Given the description of an element on the screen output the (x, y) to click on. 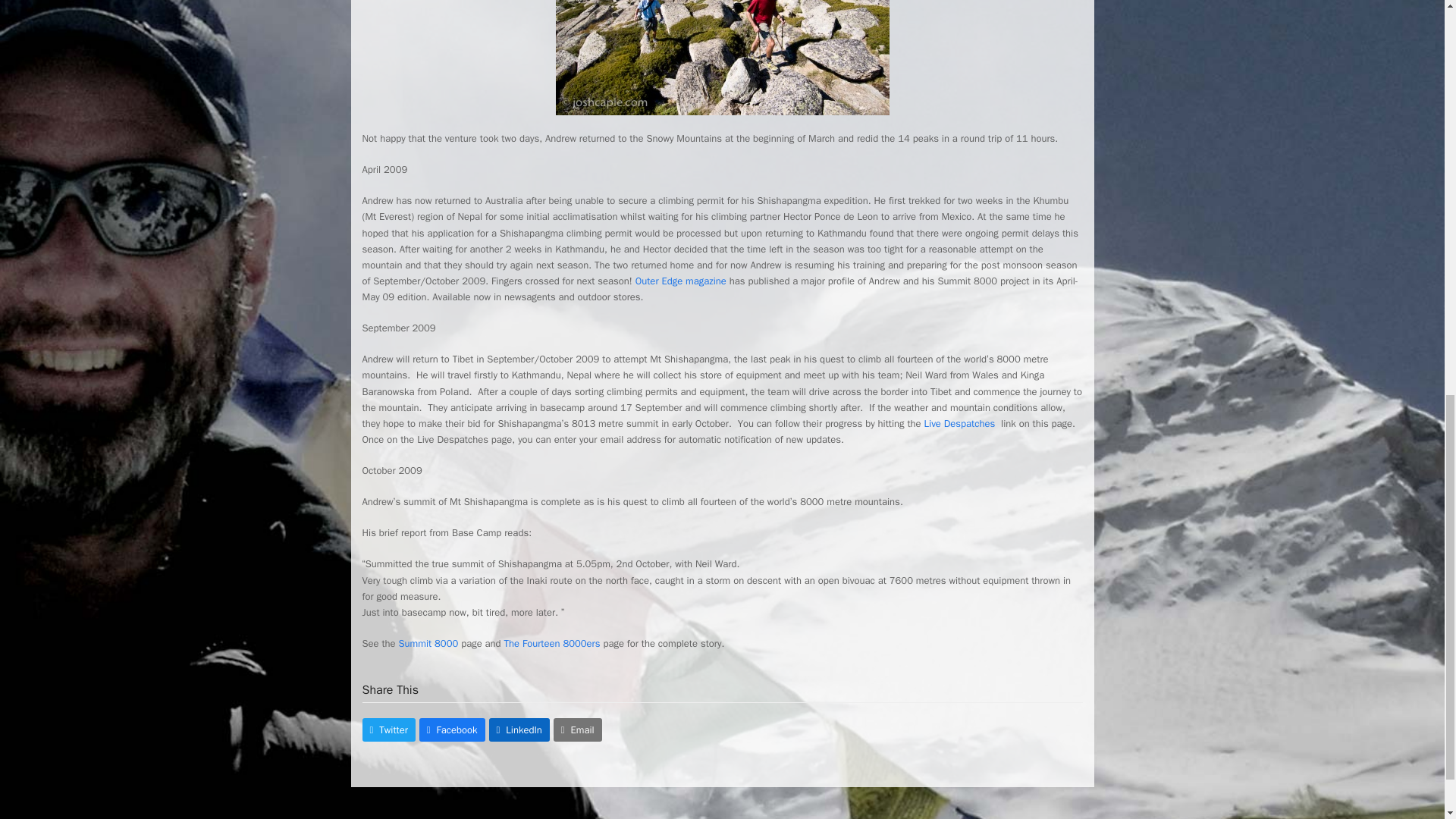
 Summit 8000 (427, 643)
Live Despatches  (961, 422)
LinkedIn (519, 730)
Email (577, 730)
Outer Edge magazine  (681, 280)
Facebook (451, 730)
The Fourteen 8000ers (551, 643)
Twitter (388, 730)
